Given the description of an element on the screen output the (x, y) to click on. 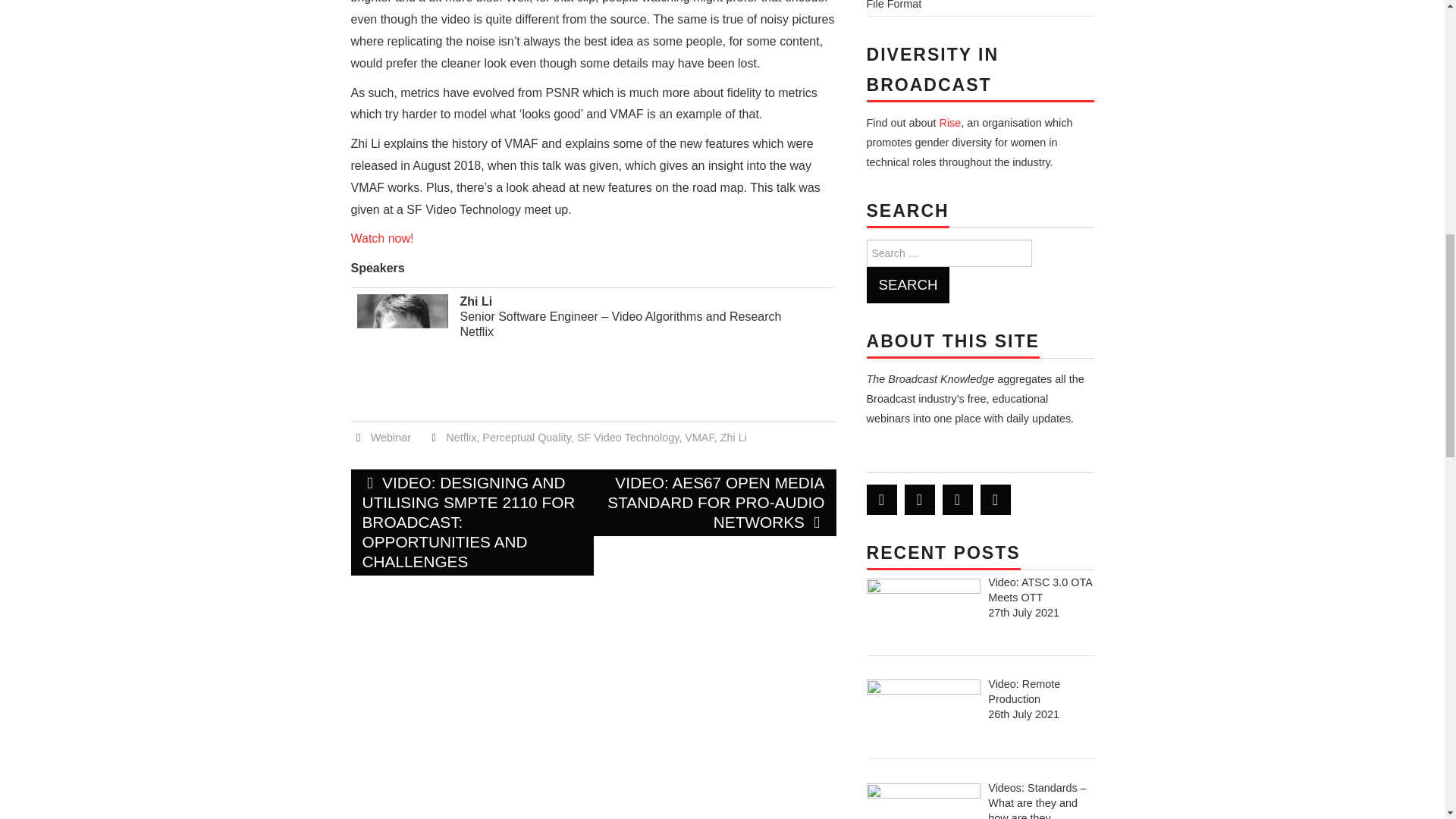
YouTube (994, 499)
Watch now! (381, 237)
Video: ATSC 3.0 OTA Meets OTT (1040, 589)
Rise (949, 122)
Search (907, 284)
LinkedIn (957, 499)
Search (907, 284)
SF Video Technology (627, 437)
Facebook (919, 499)
